Given the description of an element on the screen output the (x, y) to click on. 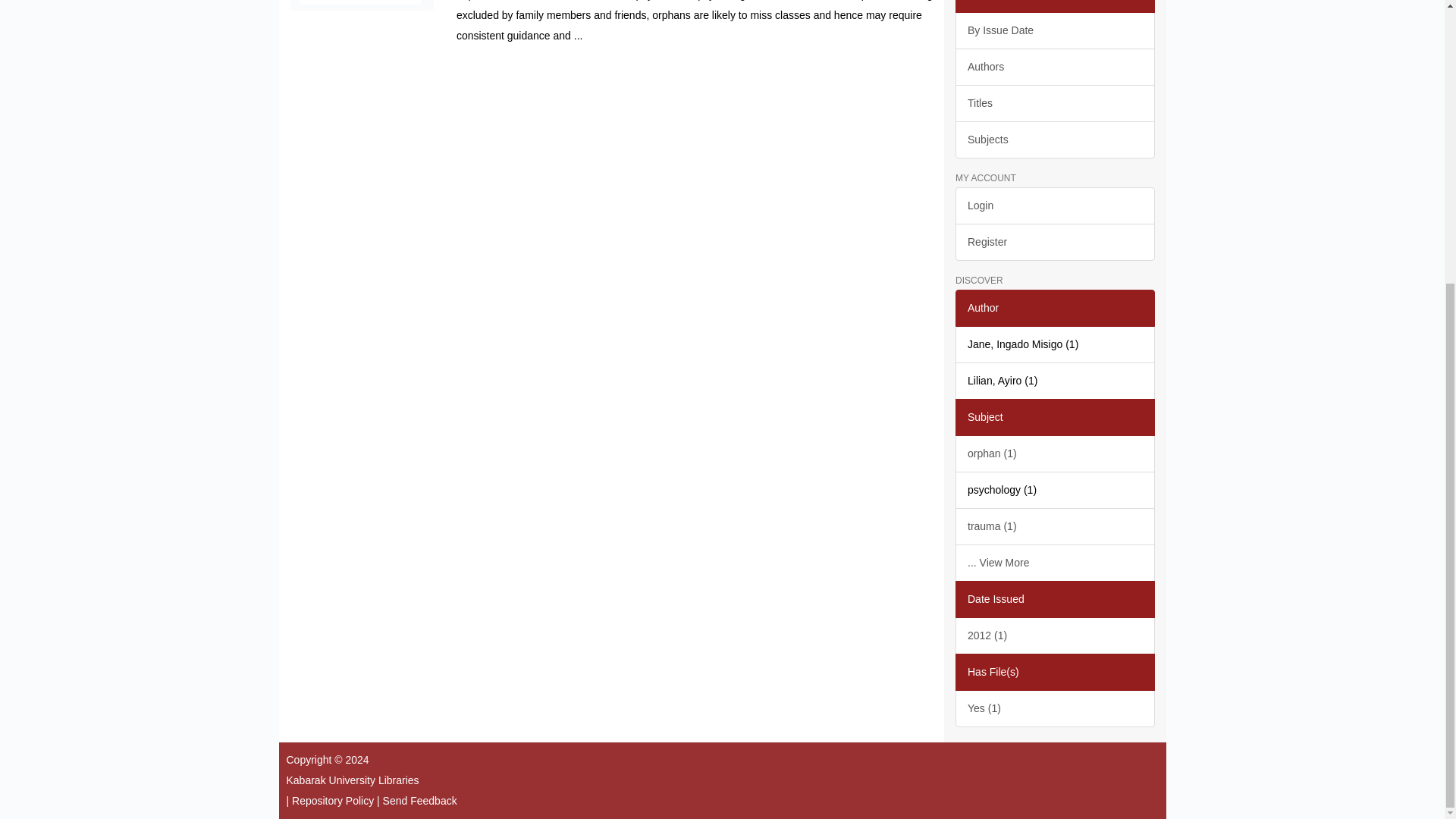
UoN Quality Policy (333, 800)
